Given the description of an element on the screen output the (x, y) to click on. 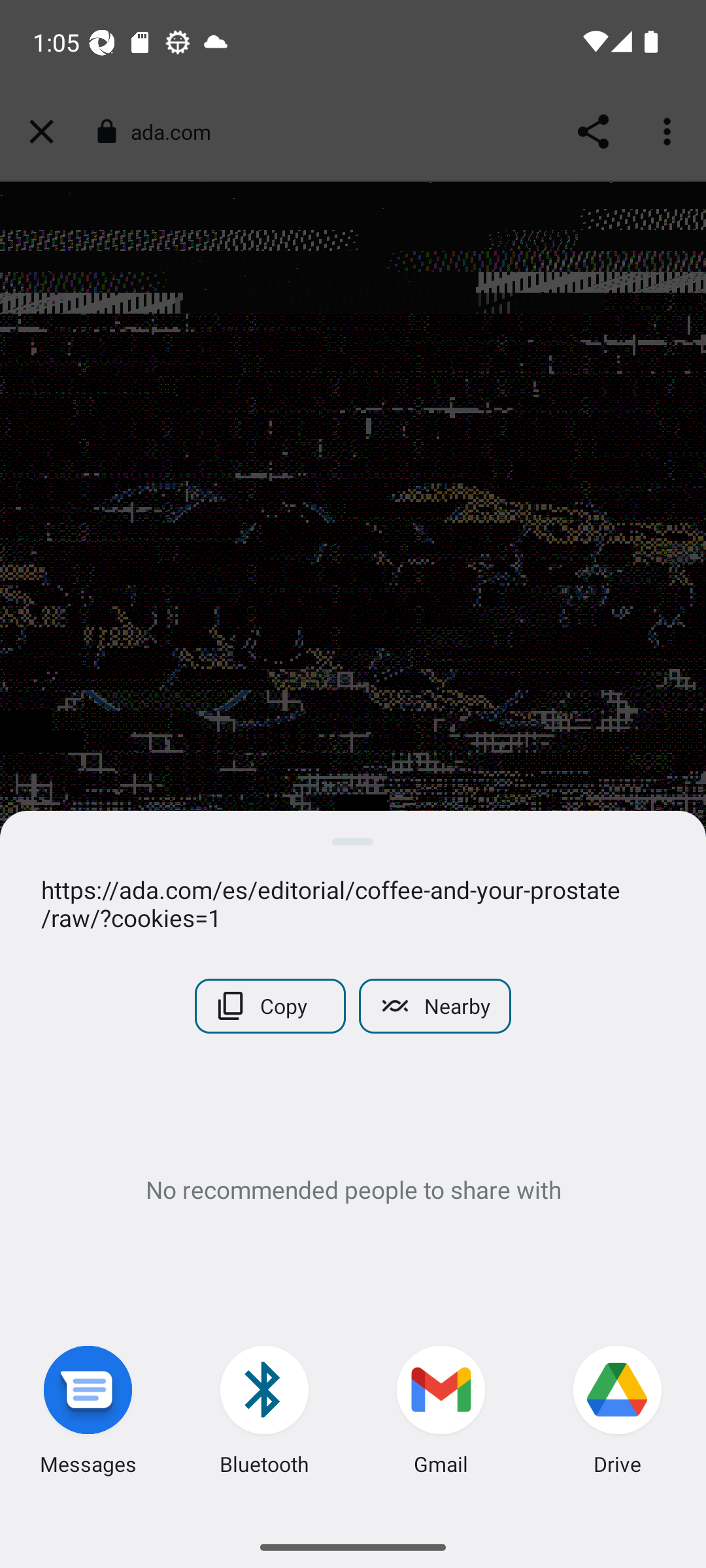
Copy (269, 1005)
Nearby (434, 1005)
Messages (88, 1414)
Bluetooth (264, 1414)
Gmail (441, 1414)
Drive (617, 1414)
